Given the description of an element on the screen output the (x, y) to click on. 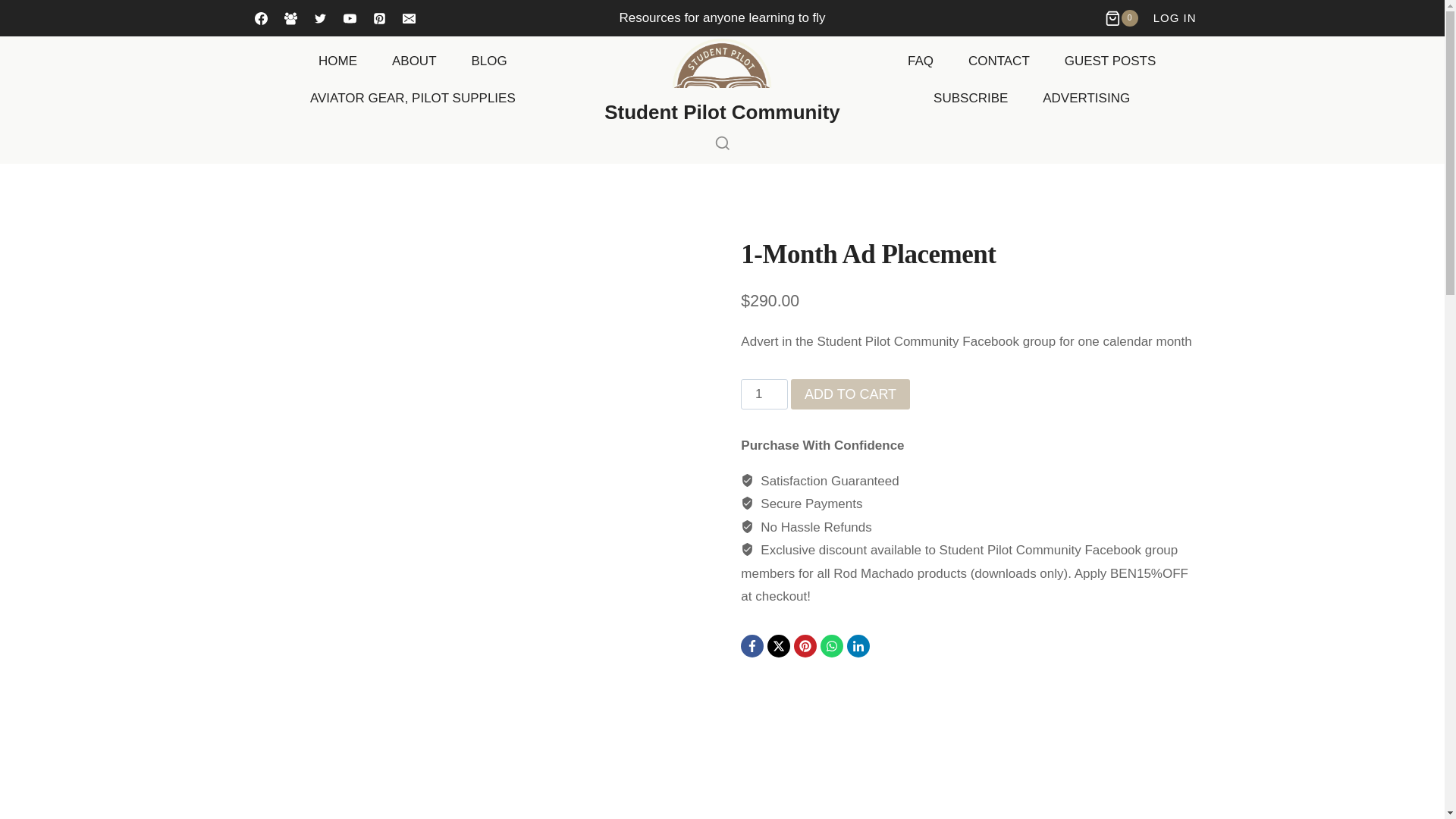
FAQ (919, 61)
ABOUT (413, 61)
CONTACT (998, 61)
LOG IN (1174, 18)
Student Pilot Community (722, 80)
BLOG (488, 61)
ADVERTISING (1086, 98)
AVIATOR GEAR, PILOT SUPPLIES (412, 98)
GUEST POSTS (1109, 61)
HOME (337, 61)
